Given the description of an element on the screen output the (x, y) to click on. 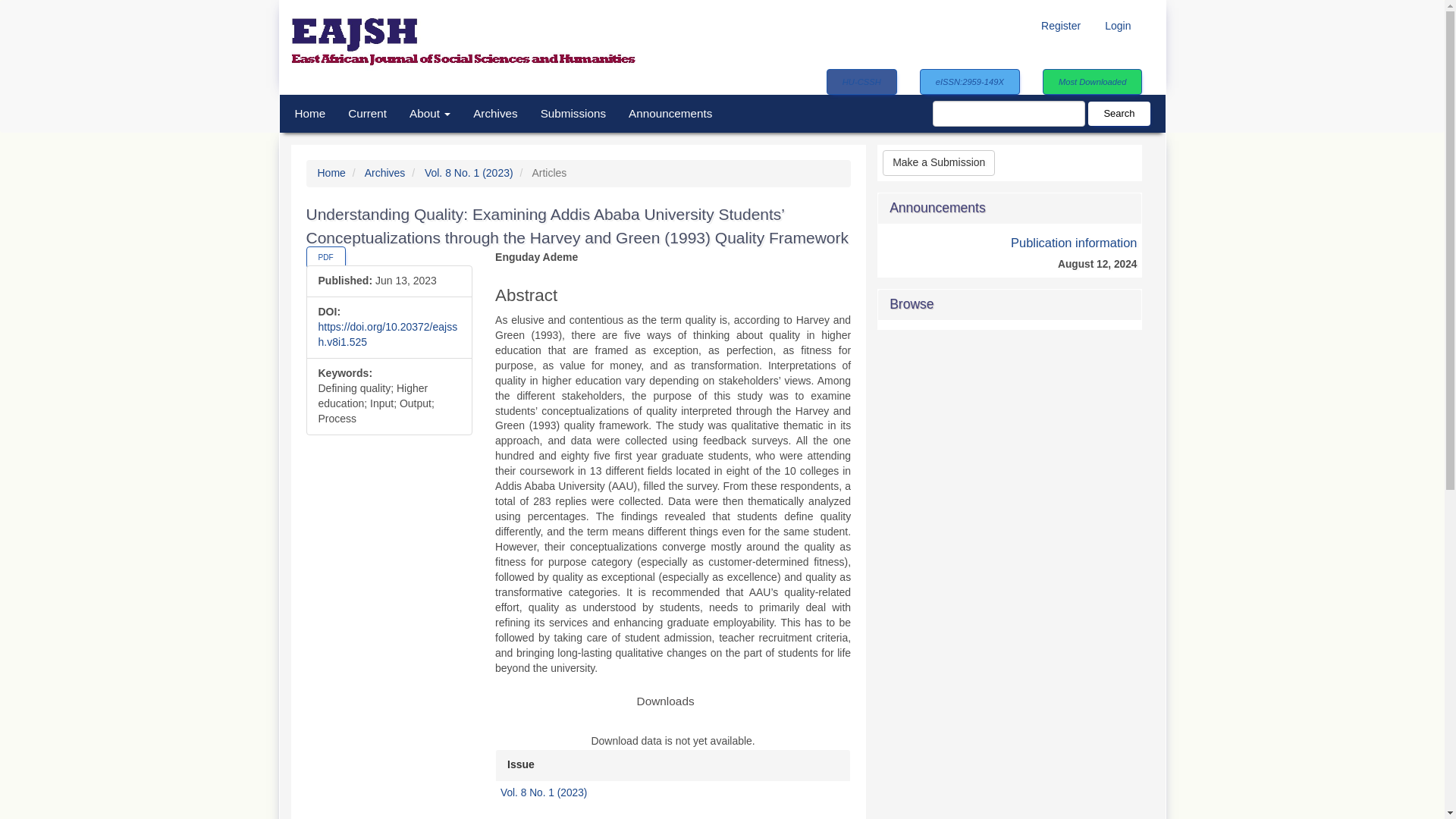
Archives (494, 113)
Home (331, 173)
HU-CSSH (861, 81)
PDF (325, 257)
Archives (385, 173)
Login (1117, 26)
Home (310, 113)
Register (1060, 26)
Make a Submission (938, 162)
Most Downloaded (1092, 81)
